Given the description of an element on the screen output the (x, y) to click on. 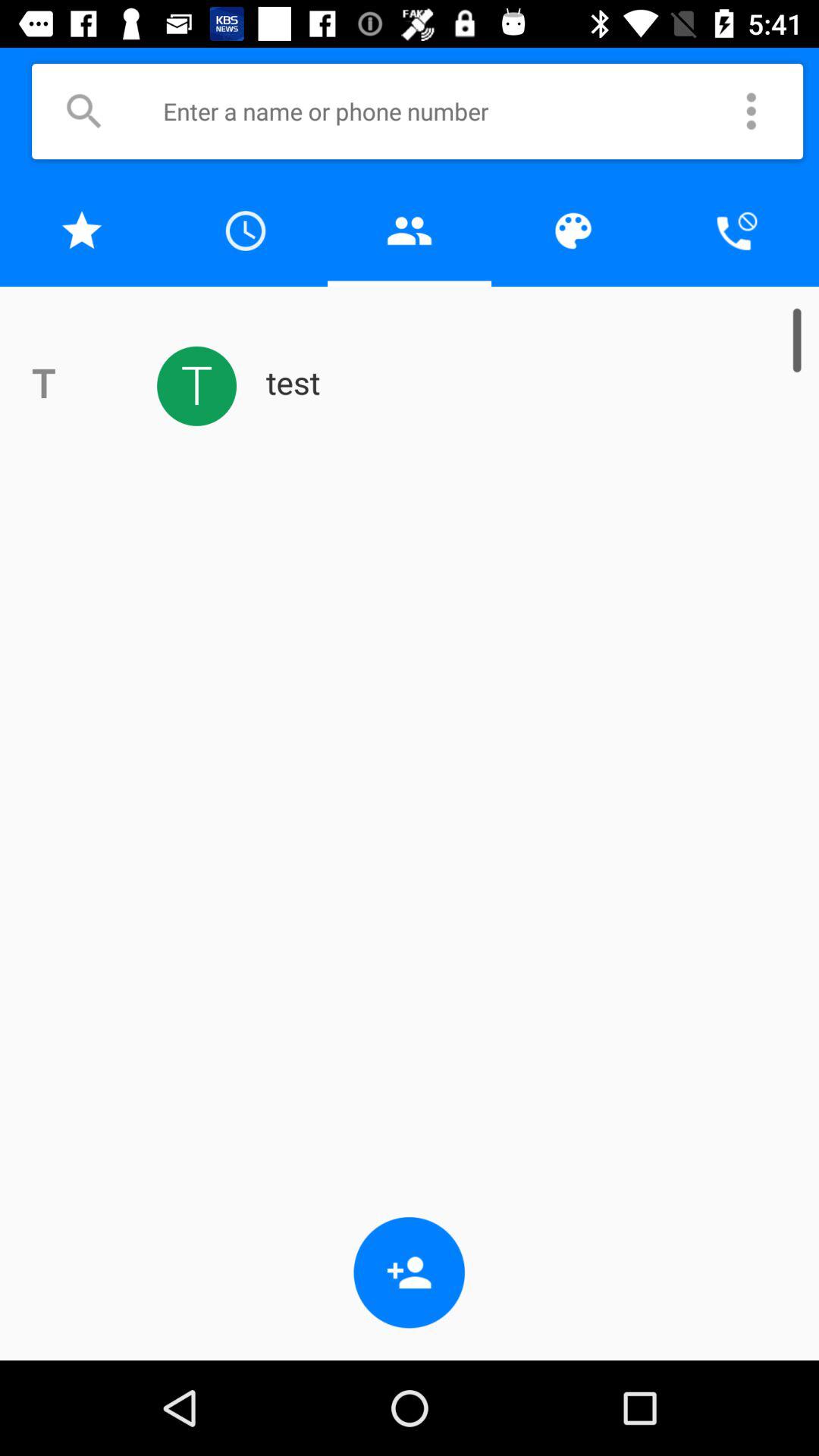
contact list (409, 230)
